Given the description of an element on the screen output the (x, y) to click on. 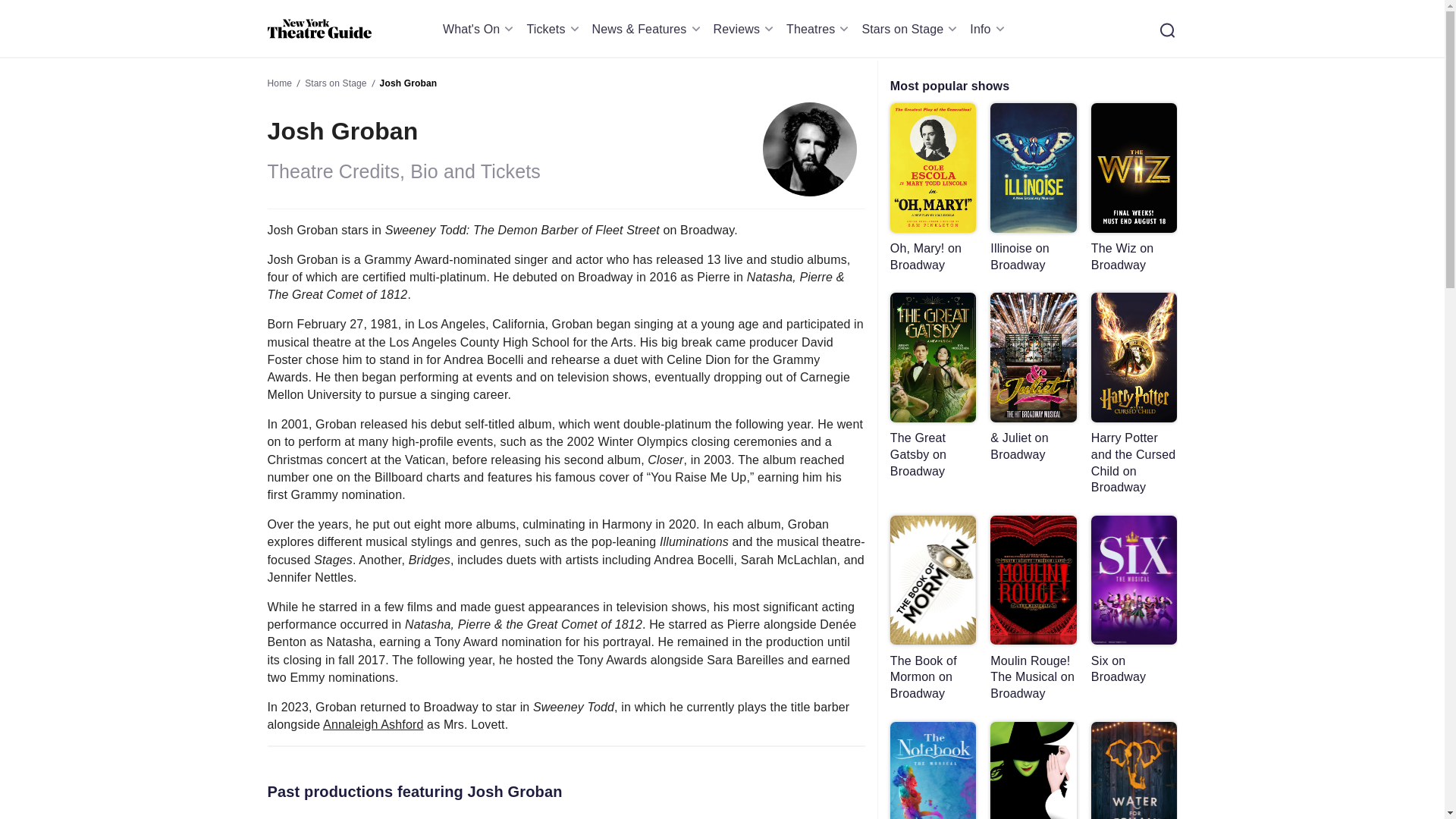
Theatres (819, 28)
Tickets (554, 28)
Reviews (745, 28)
Read more about Wicked on Broadway (1033, 770)
Home (318, 28)
What's On (480, 28)
Read more about The Notebook: The Musical on Broadway (932, 770)
Read more about Water For Elephants on Broadway (1133, 770)
